Given the description of an element on the screen output the (x, y) to click on. 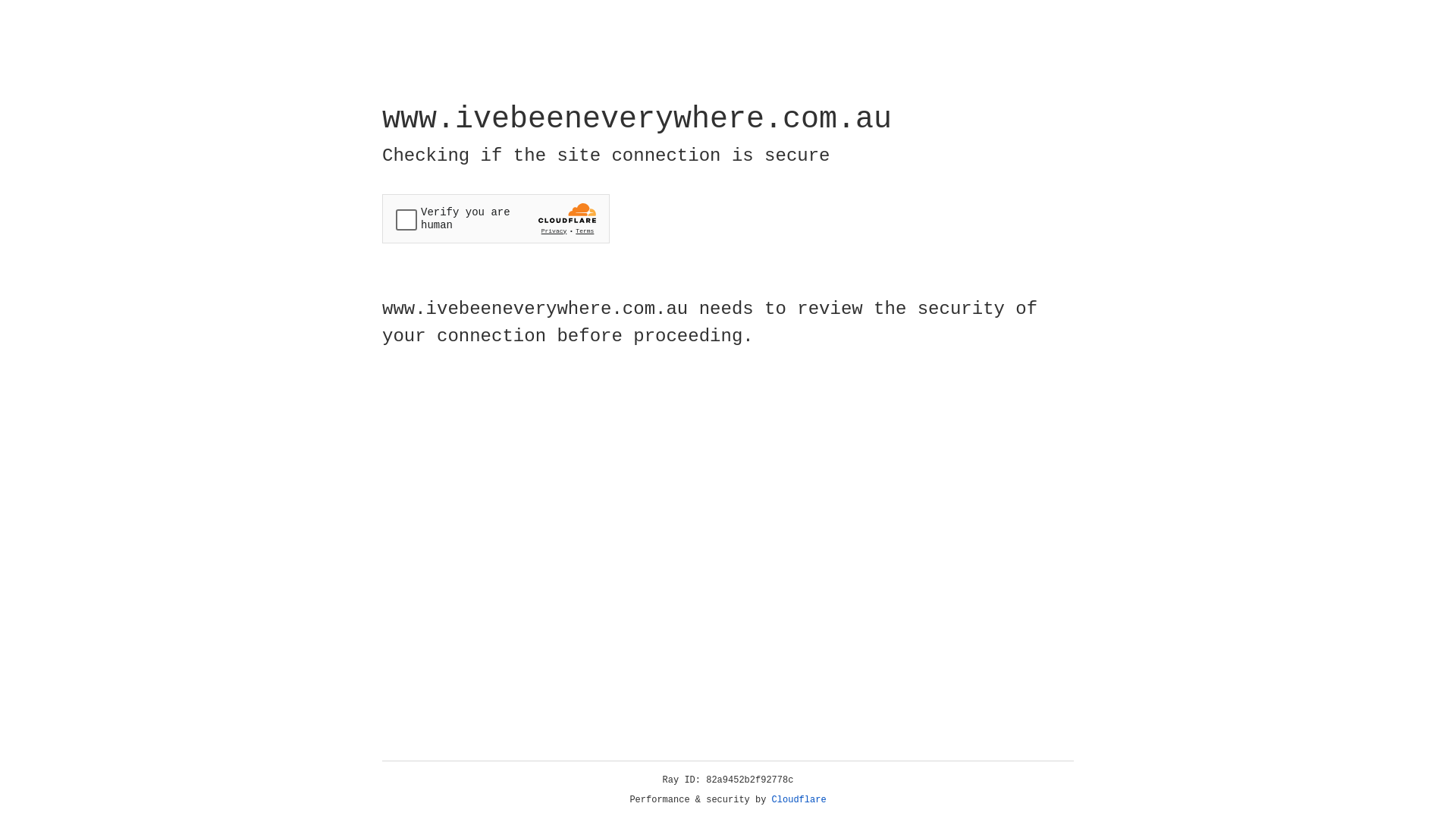
Cloudflare Element type: text (798, 799)
Widget containing a Cloudflare security challenge Element type: hover (495, 218)
